Given the description of an element on the screen output the (x, y) to click on. 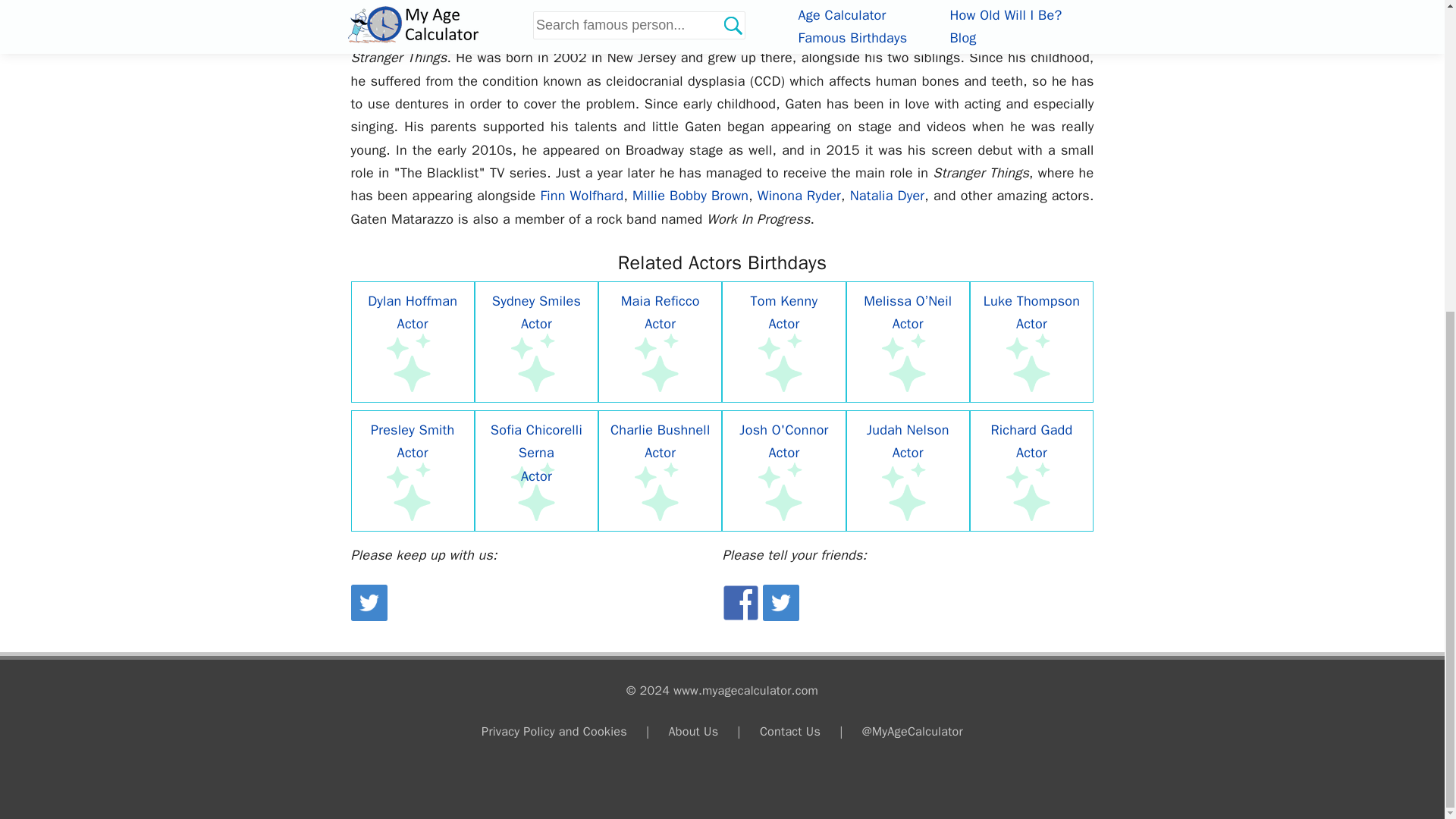
About Us (692, 731)
Contact Us (790, 731)
Privacy Policy and Cookies (554, 731)
Finn Wolfhard (581, 195)
Winona Ryder (799, 195)
Natalia Dyer (887, 195)
My Age Calculator Twitter (368, 616)
Millie Bobby Brown (689, 195)
